Given the description of an element on the screen output the (x, y) to click on. 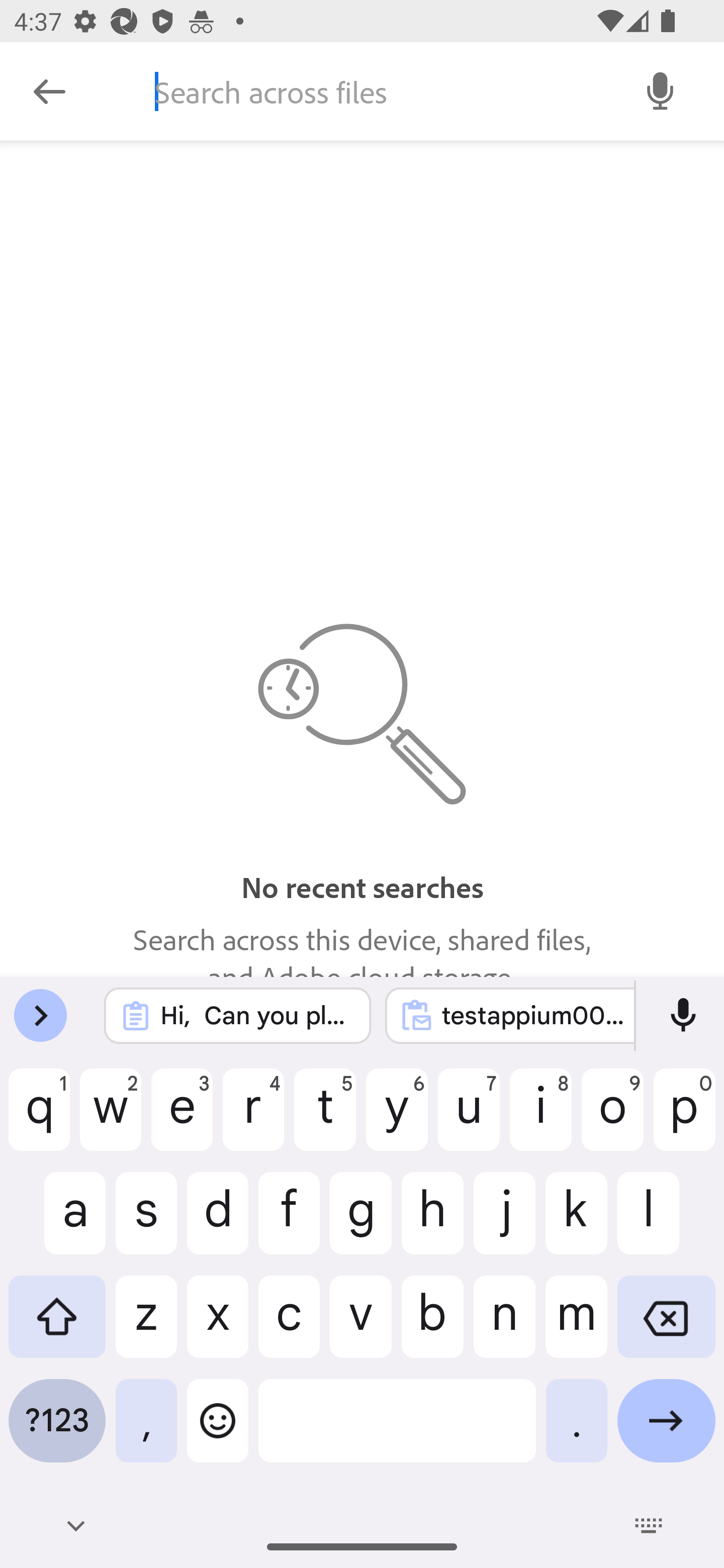
Navigate up (49, 91)
Voice search (660, 90)
Search across files (375, 91)
